Given the description of an element on the screen output the (x, y) to click on. 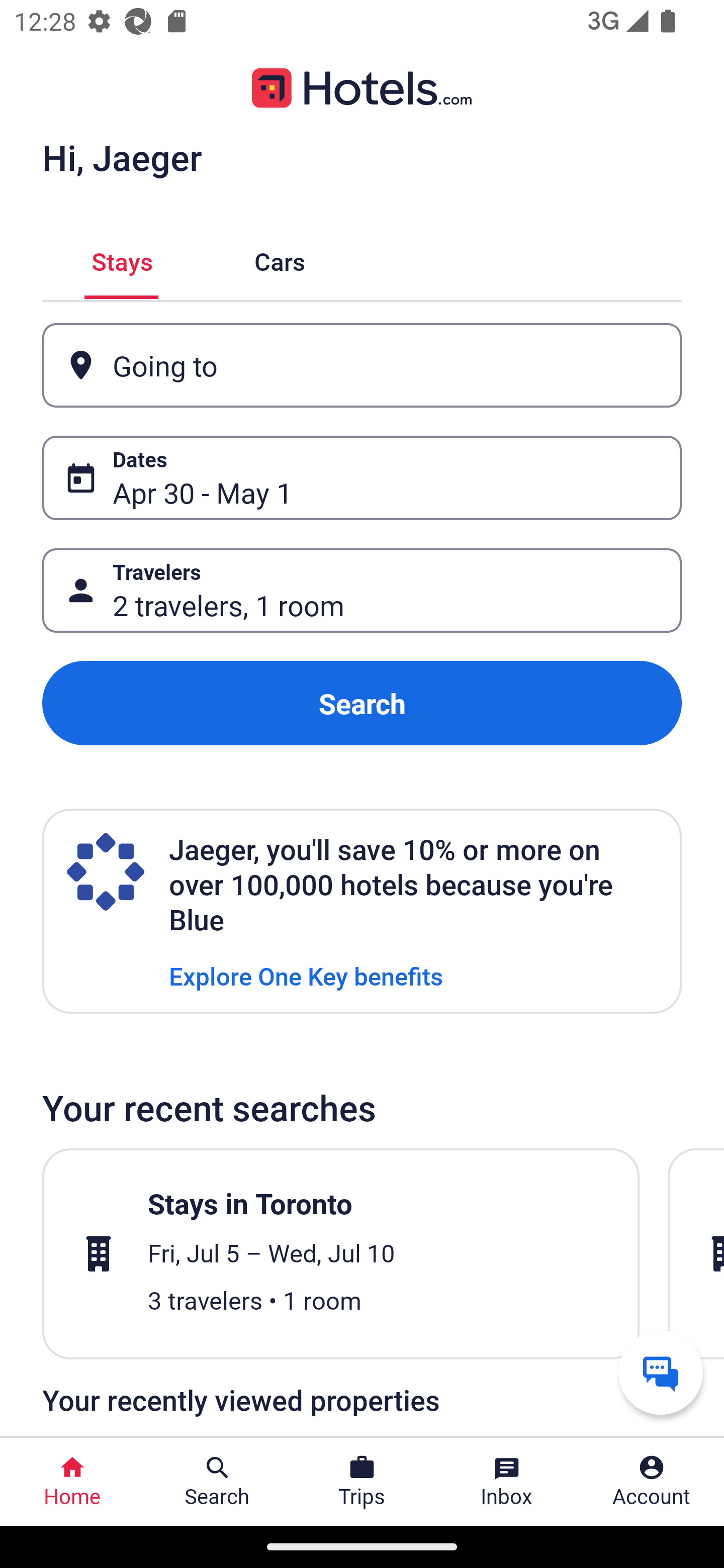
Hi, Jaeger (121, 156)
Cars (279, 259)
Going to Button (361, 365)
Dates Button Apr 30 - May 1 (361, 477)
Travelers Button 2 travelers, 1 room (361, 590)
Search (361, 702)
Get help from a virtual agent (660, 1371)
Search Search Button (216, 1481)
Trips Trips Button (361, 1481)
Inbox Inbox Button (506, 1481)
Account Profile. Button (651, 1481)
